Given the description of an element on the screen output the (x, y) to click on. 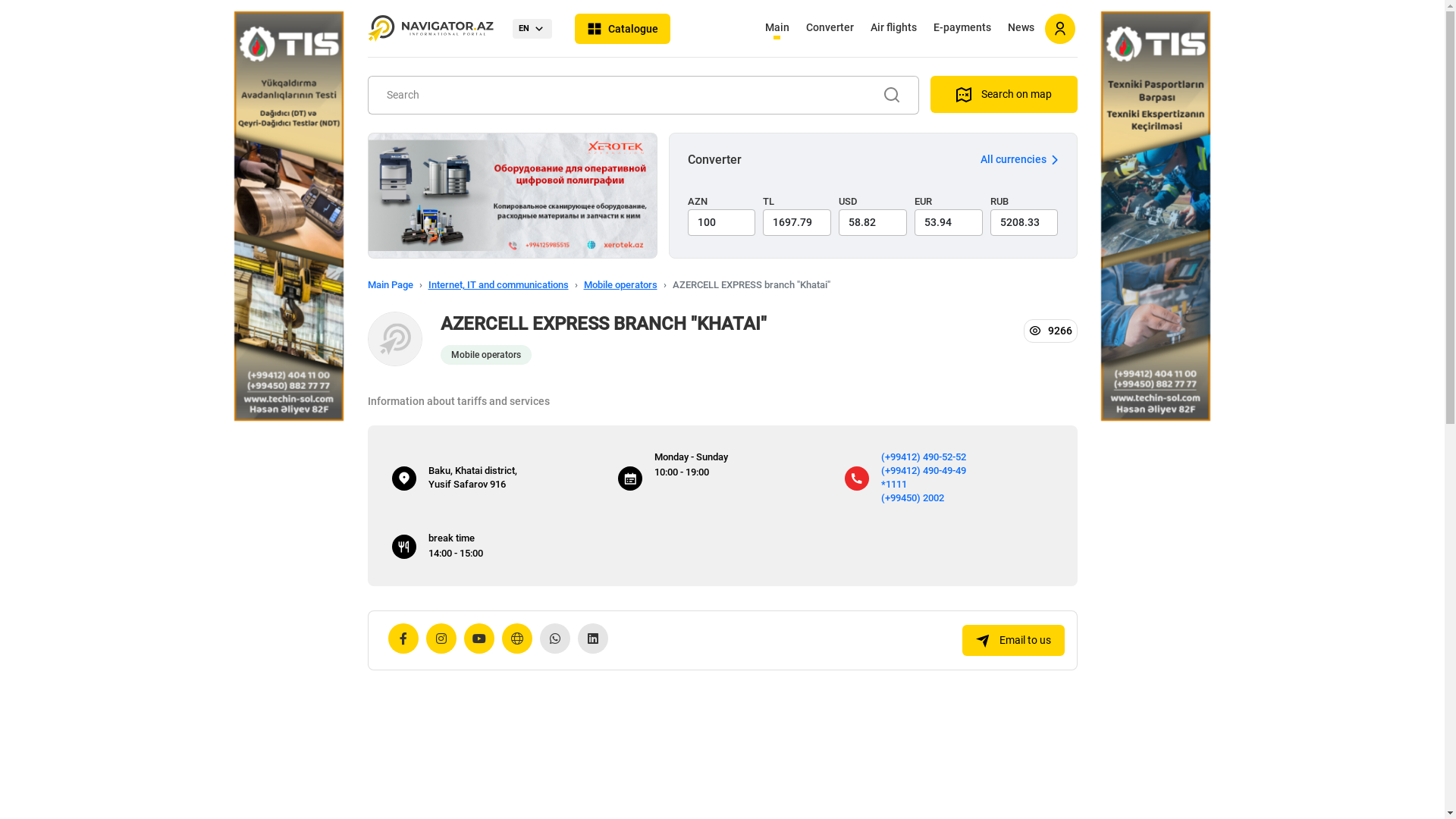
Catalogue Element type: text (622, 28)
(+99450) 2002 Element type: text (912, 496)
Mobile operators Element type: text (620, 284)
*1111 Element type: text (893, 483)
Search on map Element type: text (1002, 93)
All currencies Element type: text (1018, 159)
Air flights Element type: text (893, 29)
Internet, IT and communications Element type: text (497, 284)
Main Page Element type: text (389, 284)
E-payments Element type: text (961, 29)
News Element type: text (1020, 29)
Mobile operators Element type: text (484, 354)
(+99412) 490-52-52 Element type: text (923, 455)
Main Element type: text (776, 29)
Converter Element type: text (829, 29)
(+99412) 490-49-49 Element type: text (923, 469)
Email to us Element type: text (1012, 639)
